Given the description of an element on the screen output the (x, y) to click on. 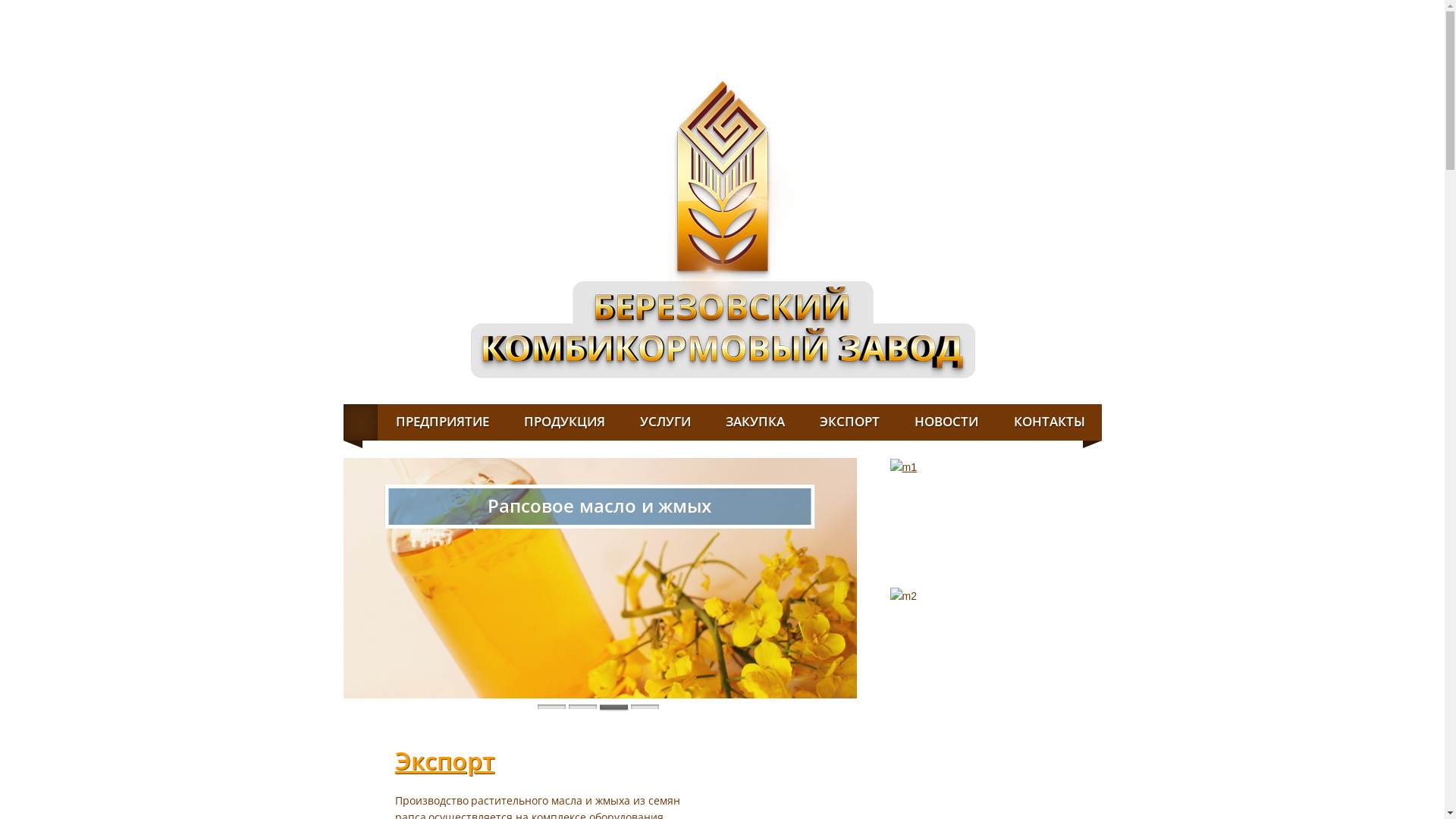
ENG Element type: text (1071, 11)
